Given the description of an element on the screen output the (x, y) to click on. 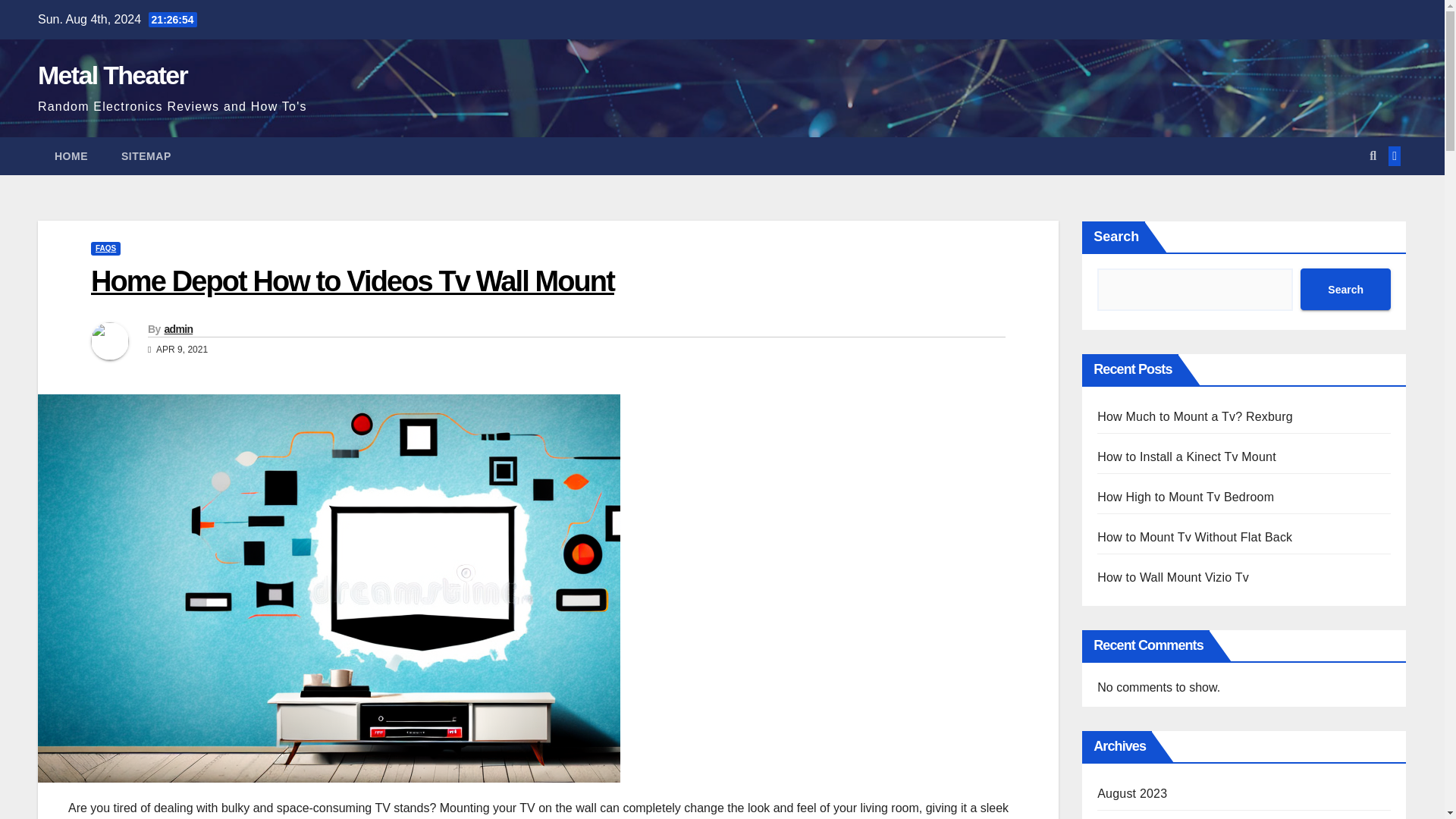
SITEMAP (145, 156)
HOME (70, 156)
FAQS (105, 248)
Metal Theater (112, 74)
Home (70, 156)
admin (177, 328)
Permalink to: Home Depot How to Videos Tv Wall Mount (352, 281)
Home Depot How to Videos Tv Wall Mount (352, 281)
